Given the description of an element on the screen output the (x, y) to click on. 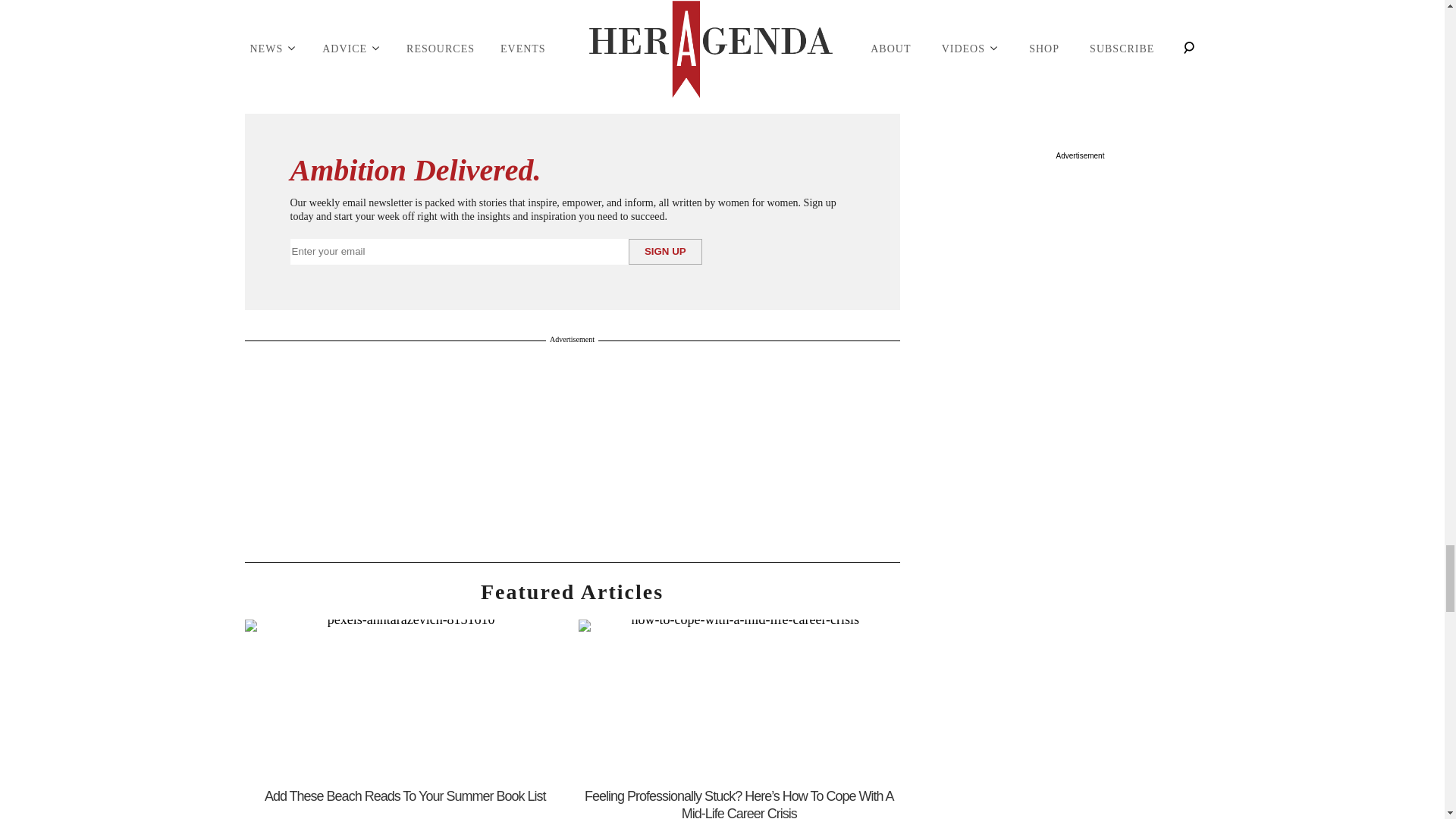
SIGN UP (664, 251)
Featured (571, 591)
